Given the description of an element on the screen output the (x, y) to click on. 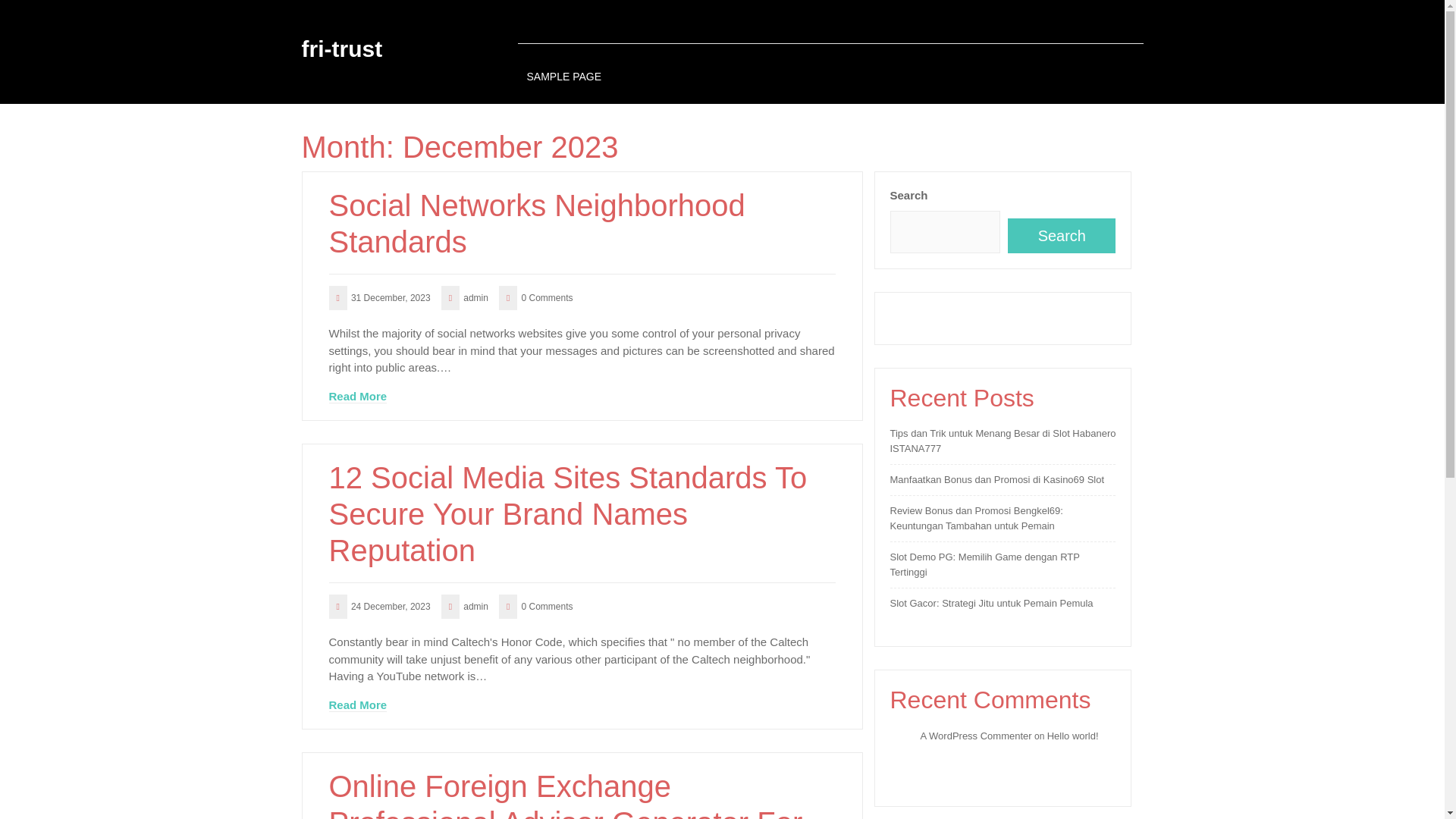
Read More (358, 704)
Social Networks Neighborhood Standards (582, 223)
Manfaatkan Bonus dan Promosi di Kasino69 Slot (997, 479)
A WordPress Commenter (976, 736)
Read More (358, 704)
SAMPLE PAGE (563, 76)
Search (1061, 235)
Social Networks Neighborhood Standards (582, 223)
Slot Gacor: Strategi Jitu untuk Pemain Pemula (991, 603)
Read More (358, 396)
Read More (358, 396)
